Given the description of an element on the screen output the (x, y) to click on. 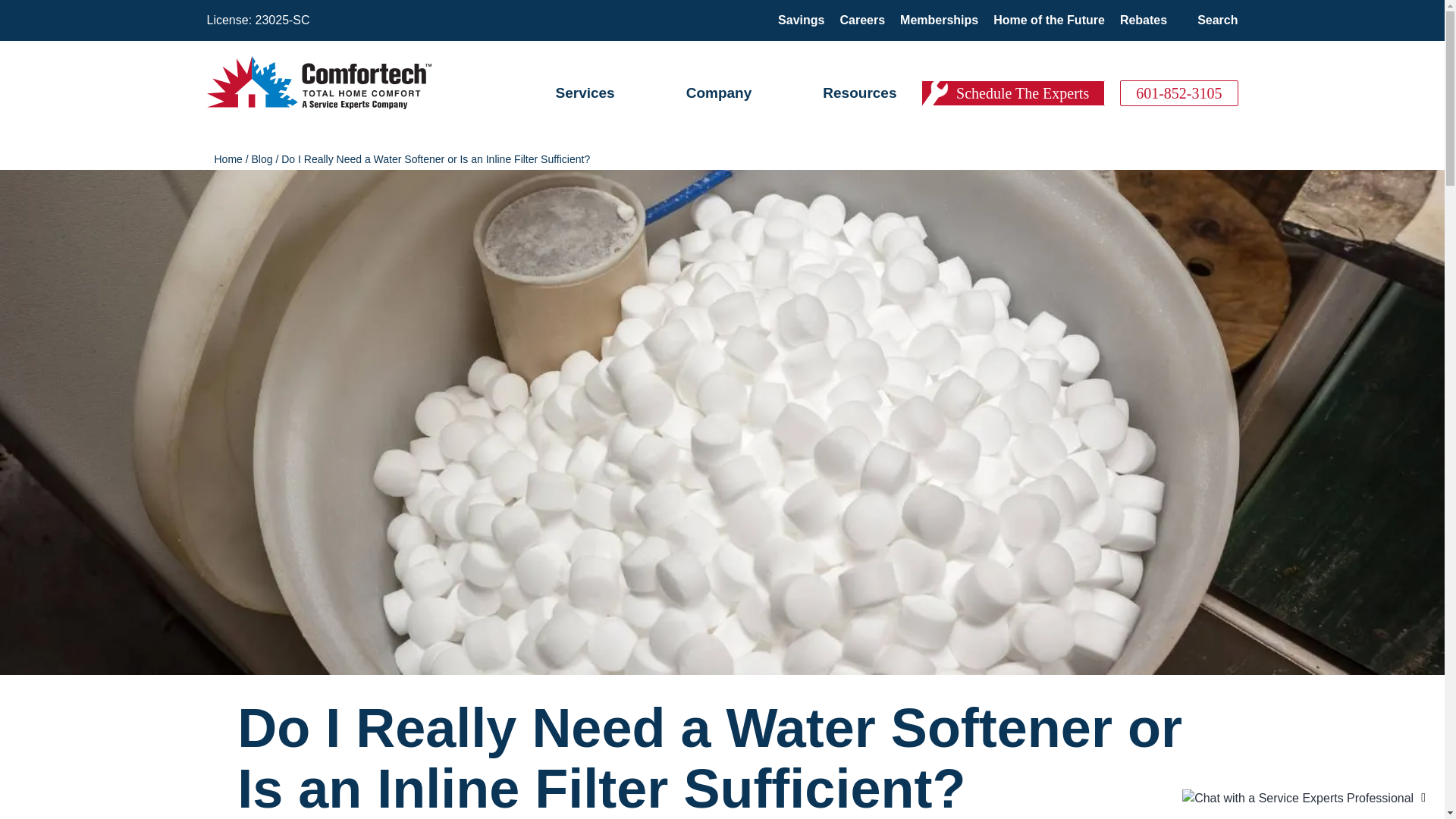
Services (584, 92)
601-852-3105 (1178, 93)
Resources (859, 92)
Savings (800, 19)
Search (1216, 19)
Company (718, 92)
Memberships (938, 19)
Careers (862, 19)
Schedule The Experts (1013, 93)
Home of the Future (1048, 19)
Rebates (1143, 19)
